Given the description of an element on the screen output the (x, y) to click on. 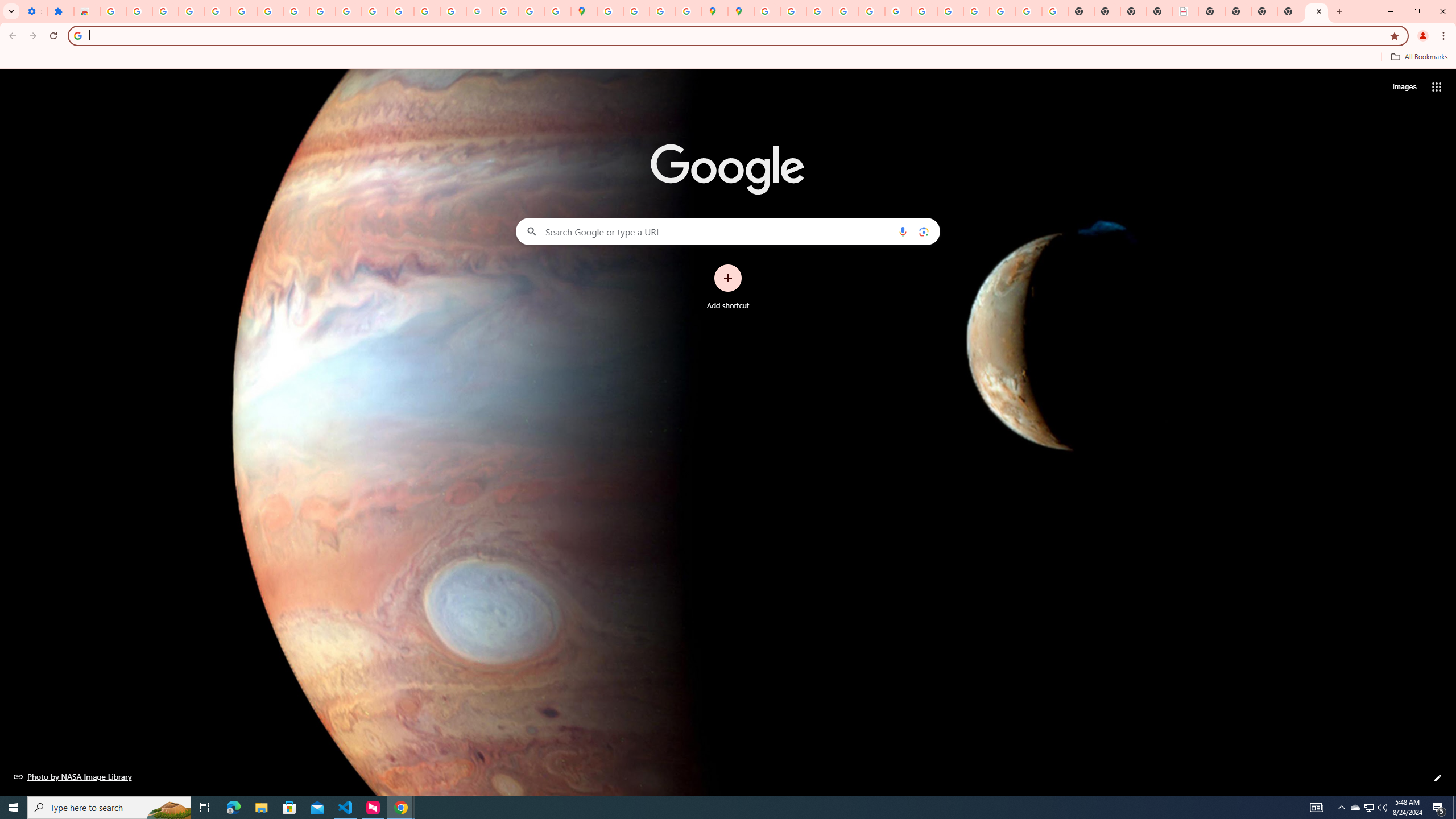
New Tab (1264, 11)
Customize this page (1437, 778)
Reviews: Helix Fruit Jump Arcade Game (86, 11)
LAAD Defence & Security 2025 | BAE Systems (1185, 11)
